Given the description of an element on the screen output the (x, y) to click on. 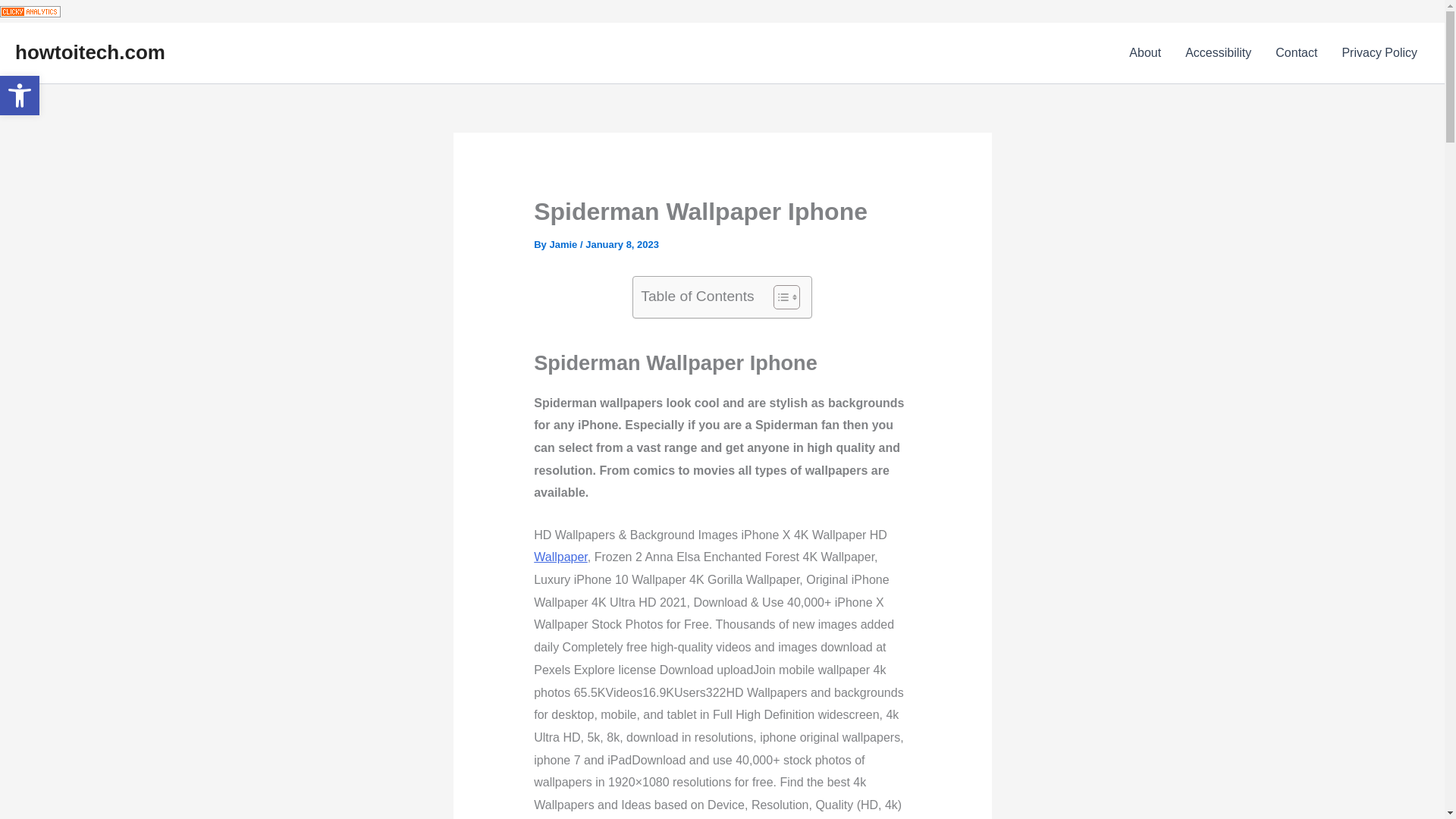
Accessibility Tools (19, 95)
Accessibility Tools (19, 95)
About (1144, 52)
Jamie (563, 244)
howtoitech.com (89, 51)
Contact (1296, 52)
Web Analytics (19, 95)
Accessibility (30, 10)
Privacy Policy (1218, 52)
